Given the description of an element on the screen output the (x, y) to click on. 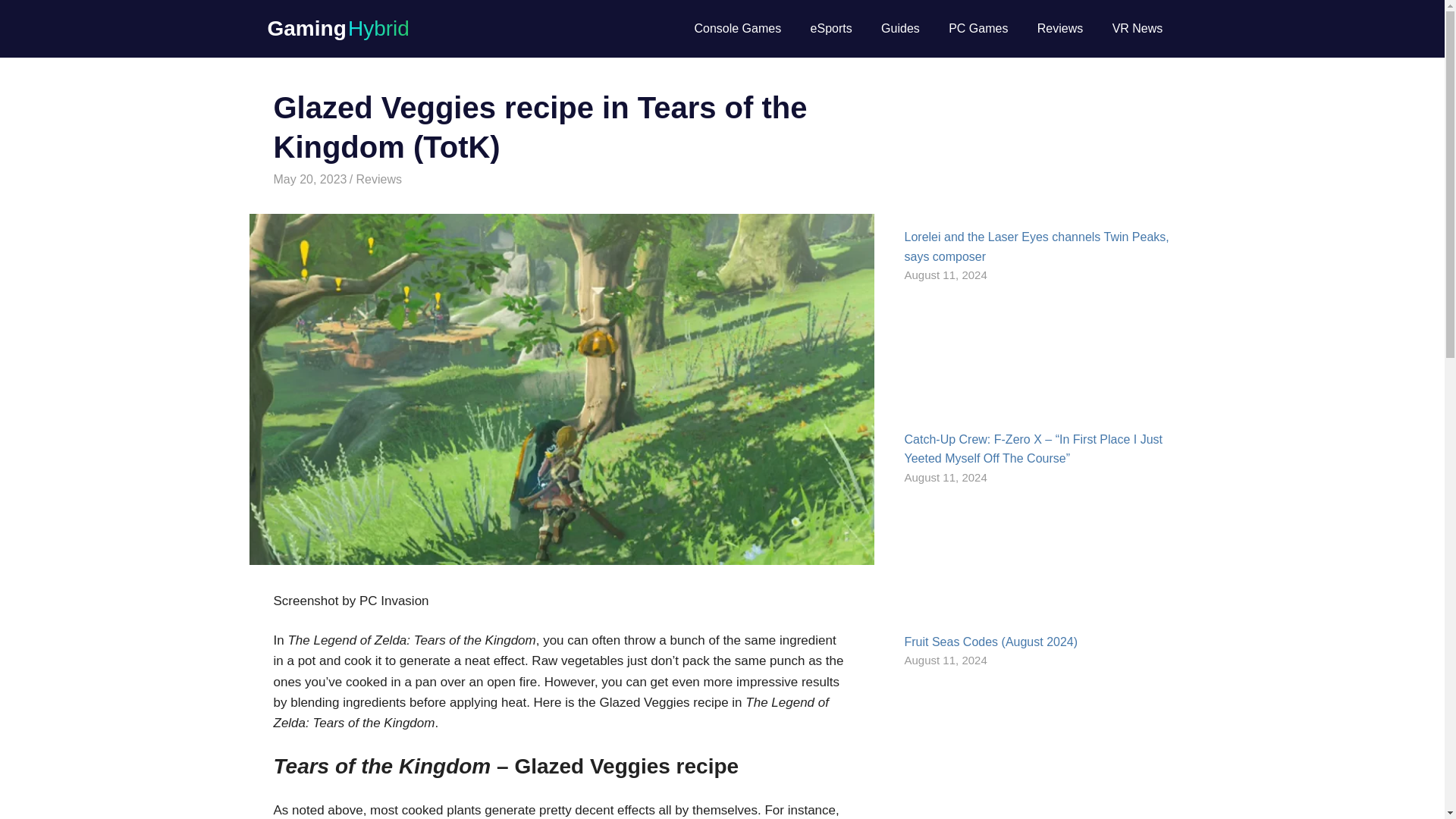
11:45 am (309, 178)
eSports (830, 28)
Reviews (378, 178)
PC Games (978, 28)
Guides (900, 28)
GamingHybrid (390, 178)
Console Games (736, 28)
Reviews (1060, 28)
Gaming Hybrid (337, 28)
